Given the description of an element on the screen output the (x, y) to click on. 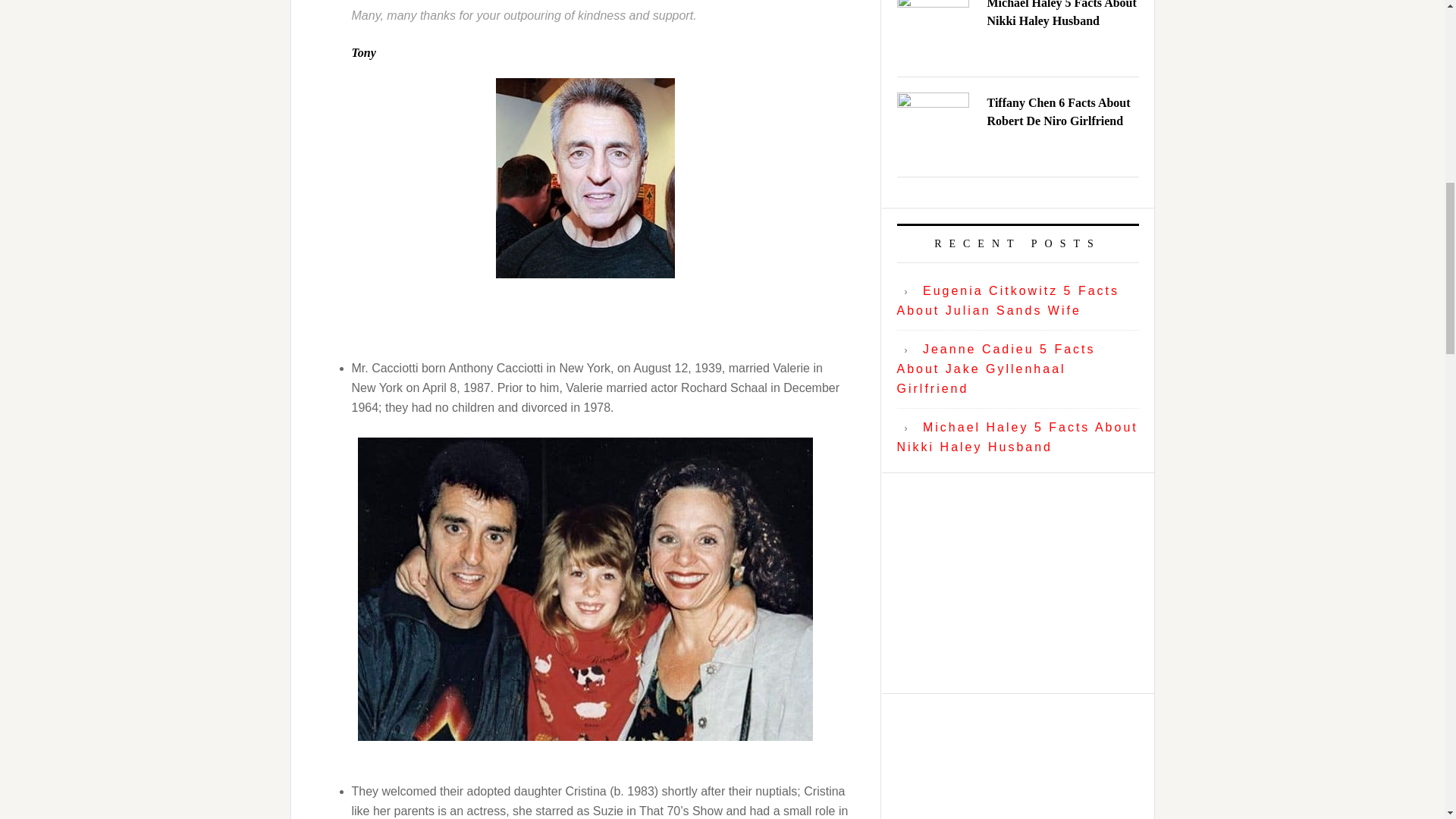
Jeanne Cadieu 5 Facts About Jake Gyllenhaal Girlfriend (995, 368)
Advertisement (1017, 583)
Tiffany Chen 6 Facts About Robert De Niro Girlfriend (1059, 111)
Michael Haley 5 Facts About Nikki Haley Husband (1016, 436)
Eugenia Citkowitz 5 Facts About Julian Sands Wife (1007, 300)
Michael Haley 5 Facts About Nikki Haley Husband (1062, 13)
